Given the description of an element on the screen output the (x, y) to click on. 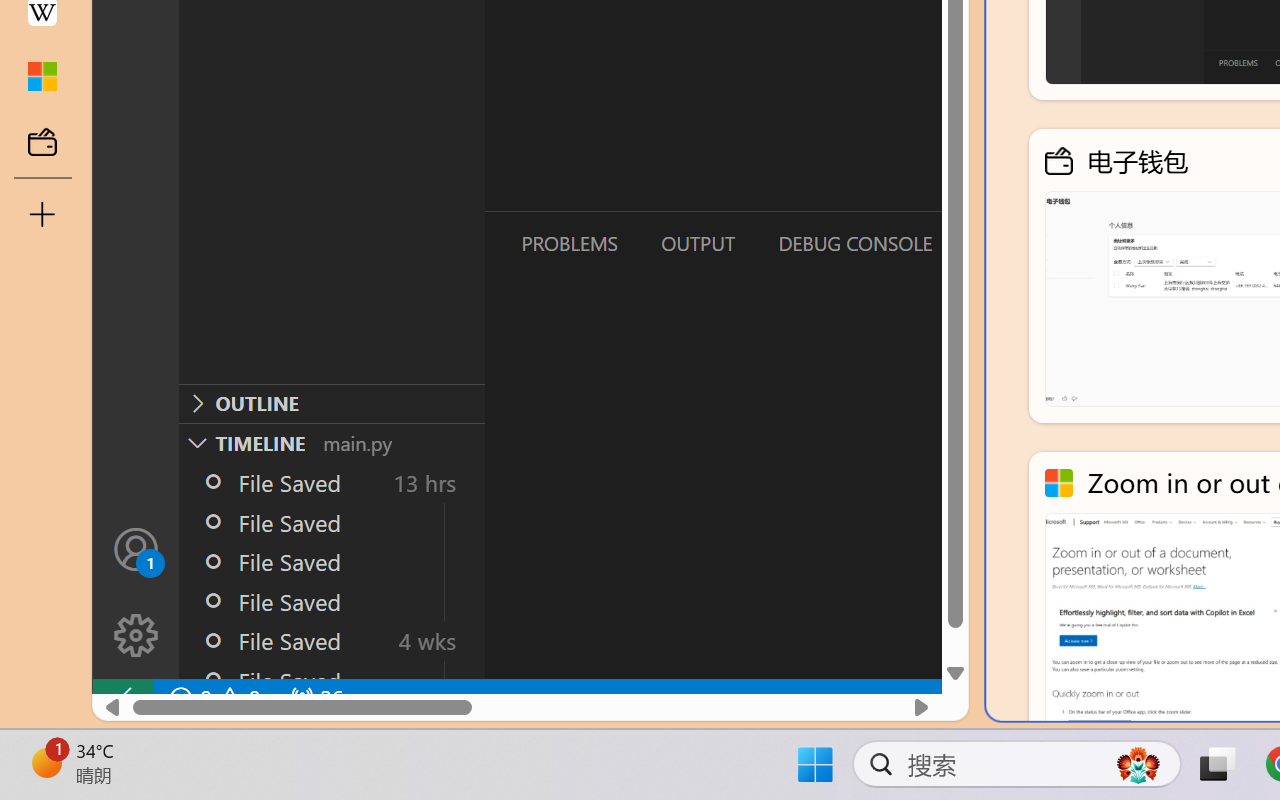
Outline Section (331, 403)
Manage (135, 635)
Manage (135, 591)
Debug Console (Ctrl+Shift+Y) (854, 243)
Terminal (Ctrl+`) (1021, 243)
Output (Ctrl+Shift+U) (696, 243)
remote (122, 698)
Accounts - Sign in requested (135, 548)
Timeline Section (331, 442)
